Given the description of an element on the screen output the (x, y) to click on. 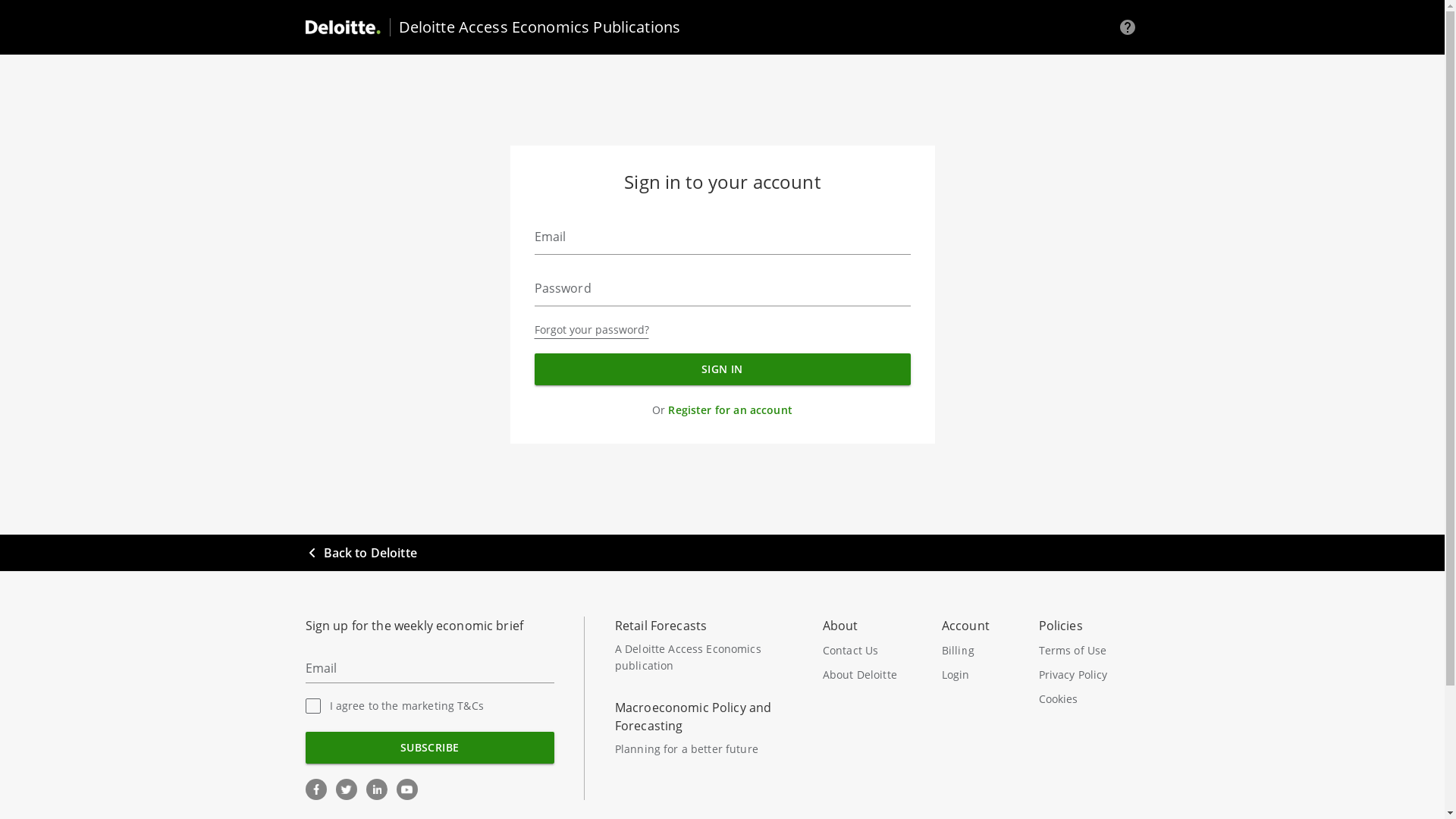
Deloitte Access Economics Publications Element type: text (530, 26)
Contact Us Element type: text (867, 650)
Register for an account Element type: text (729, 409)
Cookies Element type: text (1088, 698)
SUBSCRIBE Element type: text (428, 747)
Login Element type: text (975, 674)
Privacy Policy Element type: text (1083, 674)
About Deloitte Element type: text (872, 674)
Billing Element type: text (975, 650)
Planning for a better future Element type: text (686, 748)
SIGN IN Element type: text (721, 369)
A Deloitte Access Economics publication Element type: text (688, 656)
Forgot your password? Element type: text (590, 329)
Terms of Use Element type: text (1083, 650)
Back to Deloitte Element type: text (360, 552)
